Given the description of an element on the screen output the (x, y) to click on. 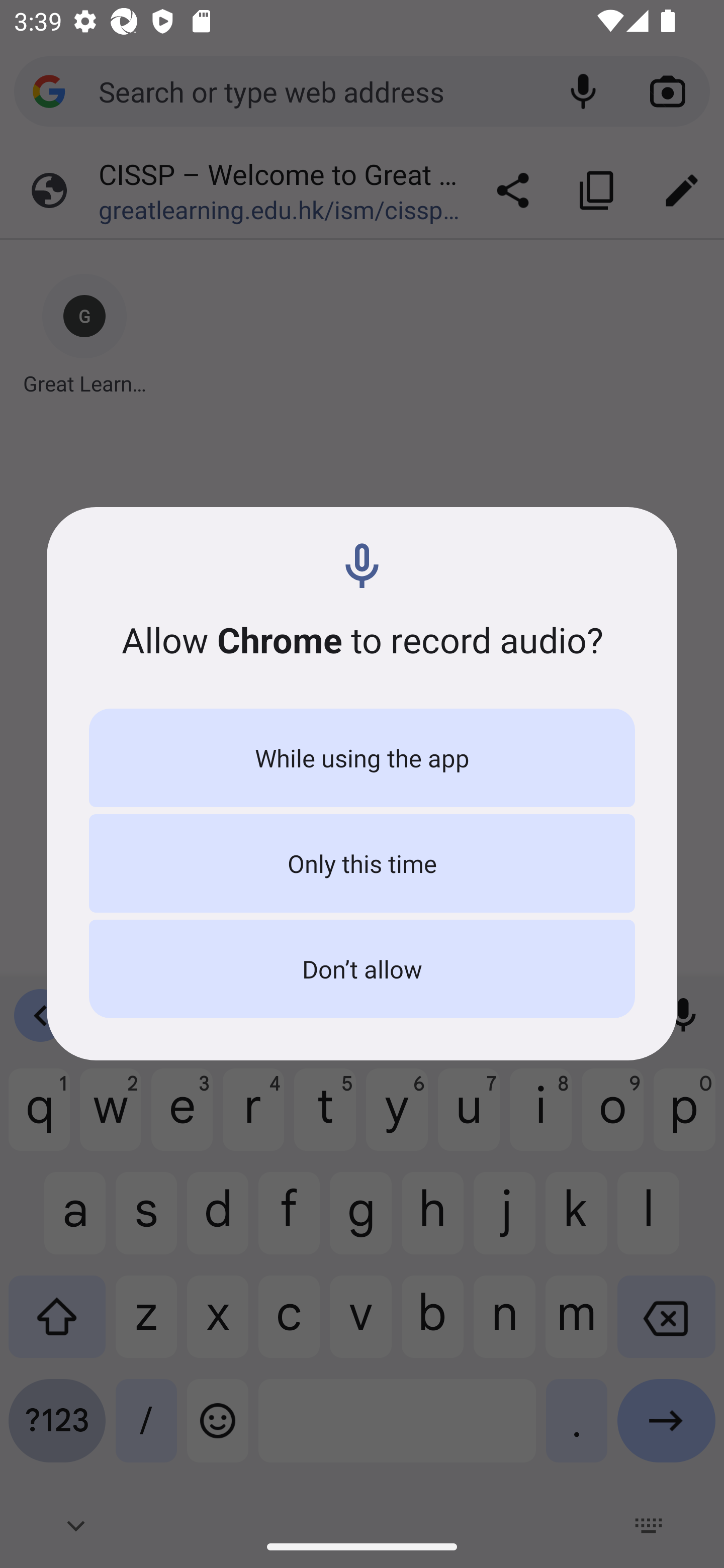
While using the app (361, 757)
Only this time (361, 862)
Don’t allow (361, 968)
